Given the description of an element on the screen output the (x, y) to click on. 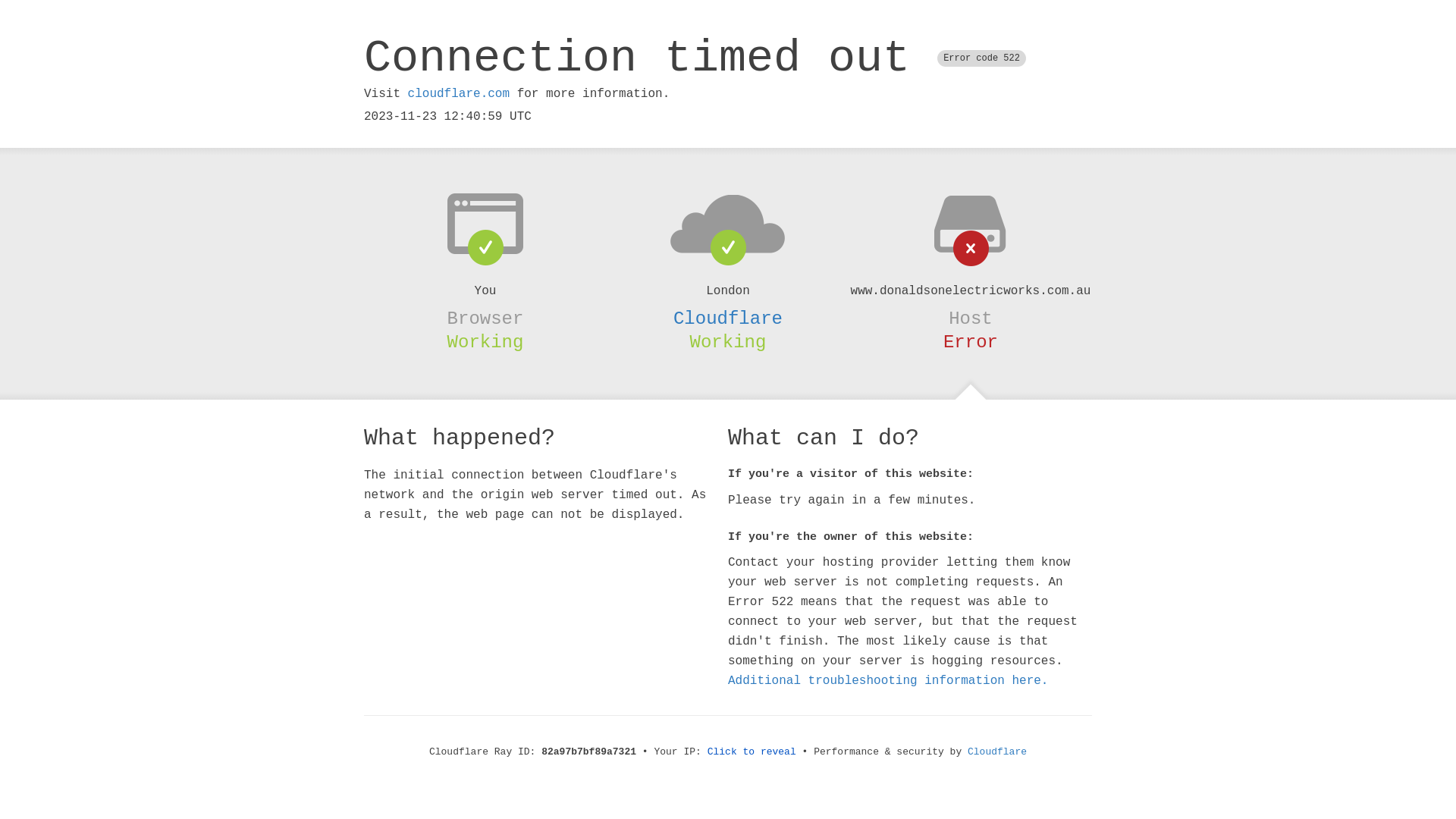
Cloudflare Element type: text (996, 751)
Cloudflare Element type: text (727, 318)
cloudflare.com Element type: text (458, 93)
Click to reveal Element type: text (751, 751)
Additional troubleshooting information here. Element type: text (888, 680)
